Given the description of an element on the screen output the (x, y) to click on. 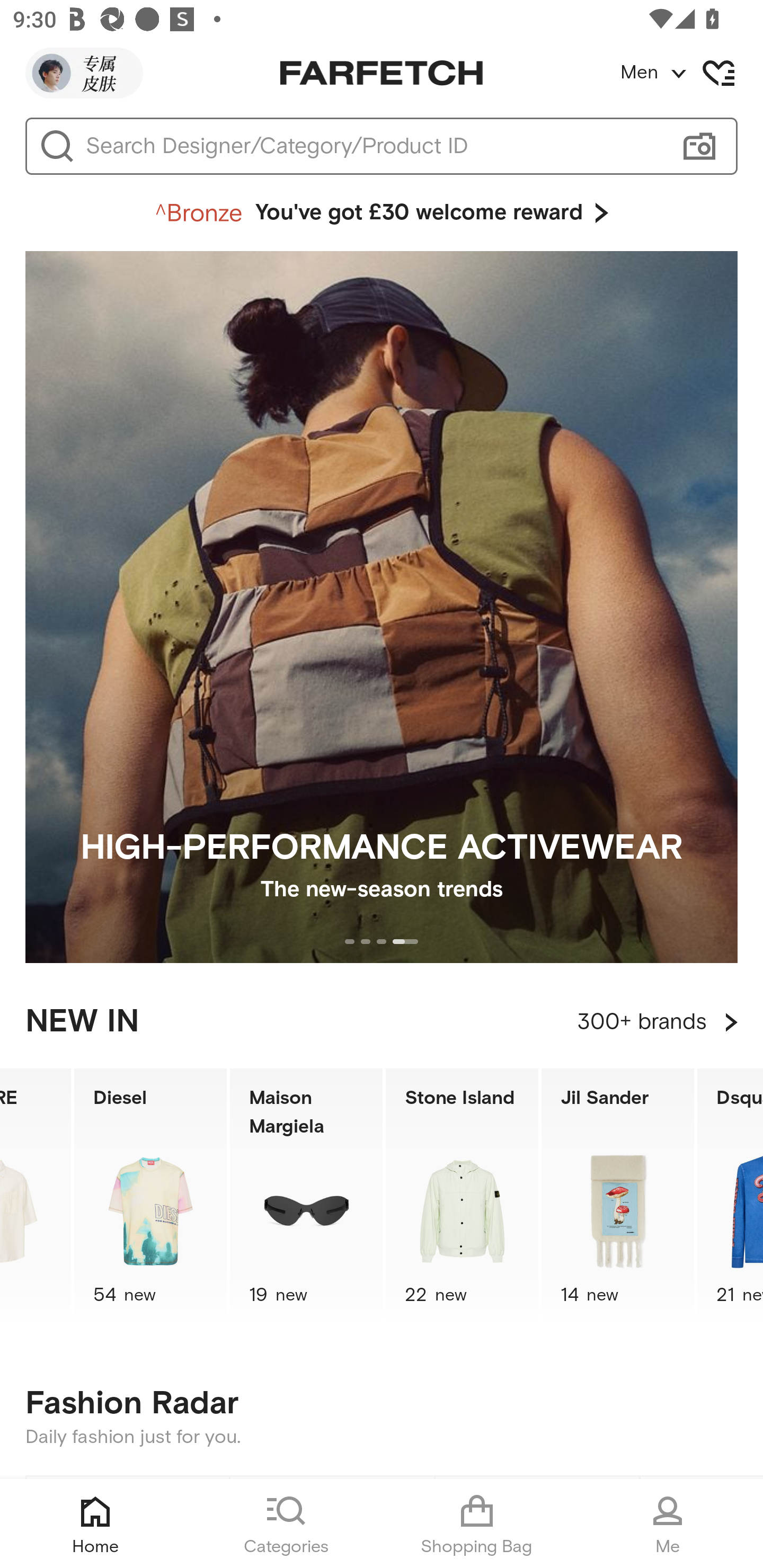
Men (691, 72)
Search Designer/Category/Product ID (373, 146)
You've got £30 welcome reward (381, 213)
NEW IN 300+ brands (381, 1021)
Diesel 54  new (150, 1196)
Maison Margiela 19  new (305, 1196)
Stone Island 22  new (462, 1196)
Jil Sander 14  new (617, 1196)
Categories (285, 1523)
Shopping Bag (476, 1523)
Me (667, 1523)
